Given the description of an element on the screen output the (x, y) to click on. 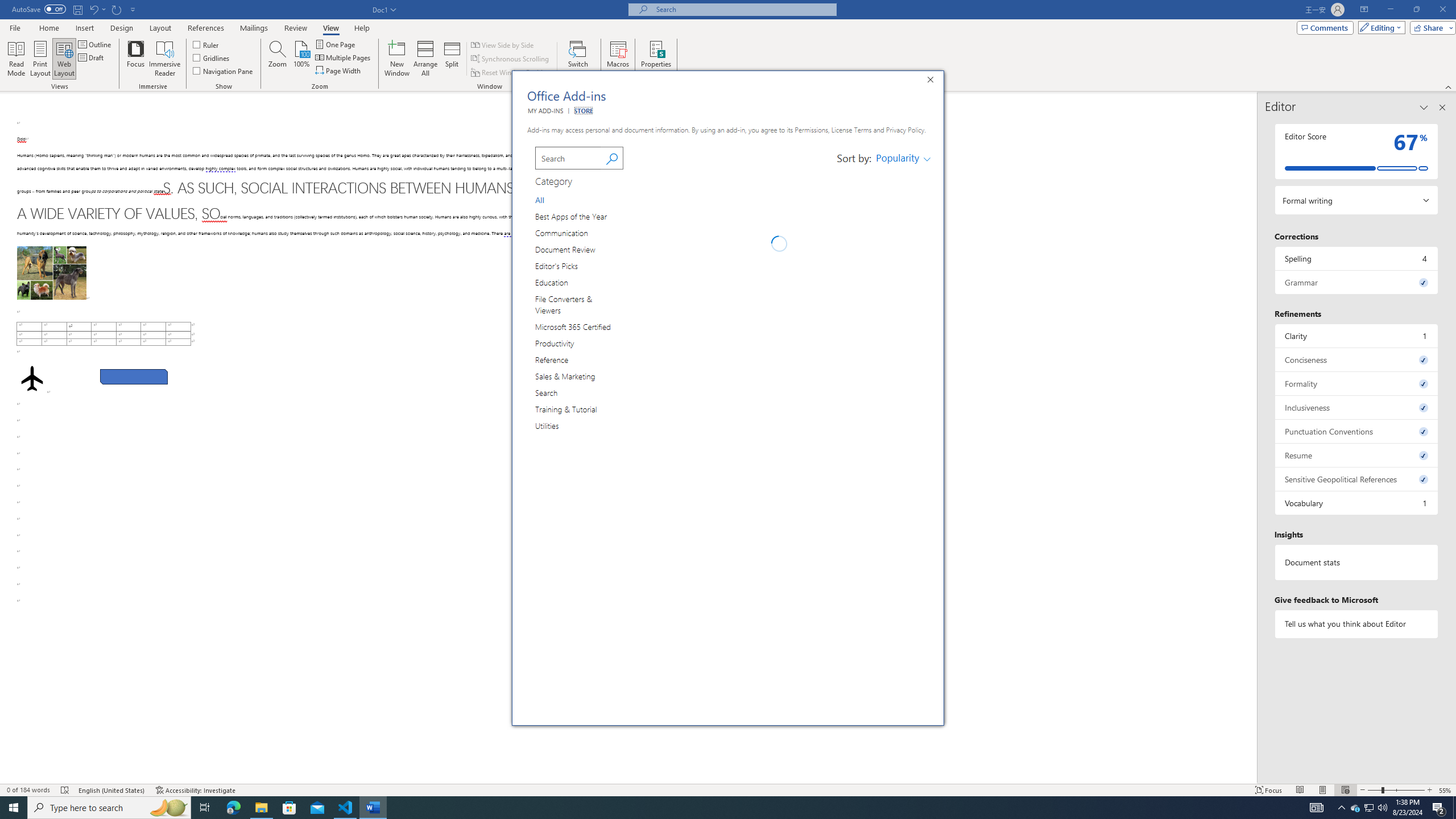
Resume, 0 issues. Press space or enter to review items. (1356, 454)
Undo Paragraph Alignment (92, 9)
Ruler (206, 44)
Morphological variation in six dogs (51, 272)
Add Script Lab, a Microsoft Garage project (902, 263)
Gridlines (211, 56)
Category Group All selected 1 of 14 (541, 199)
